Given the description of an element on the screen output the (x, y) to click on. 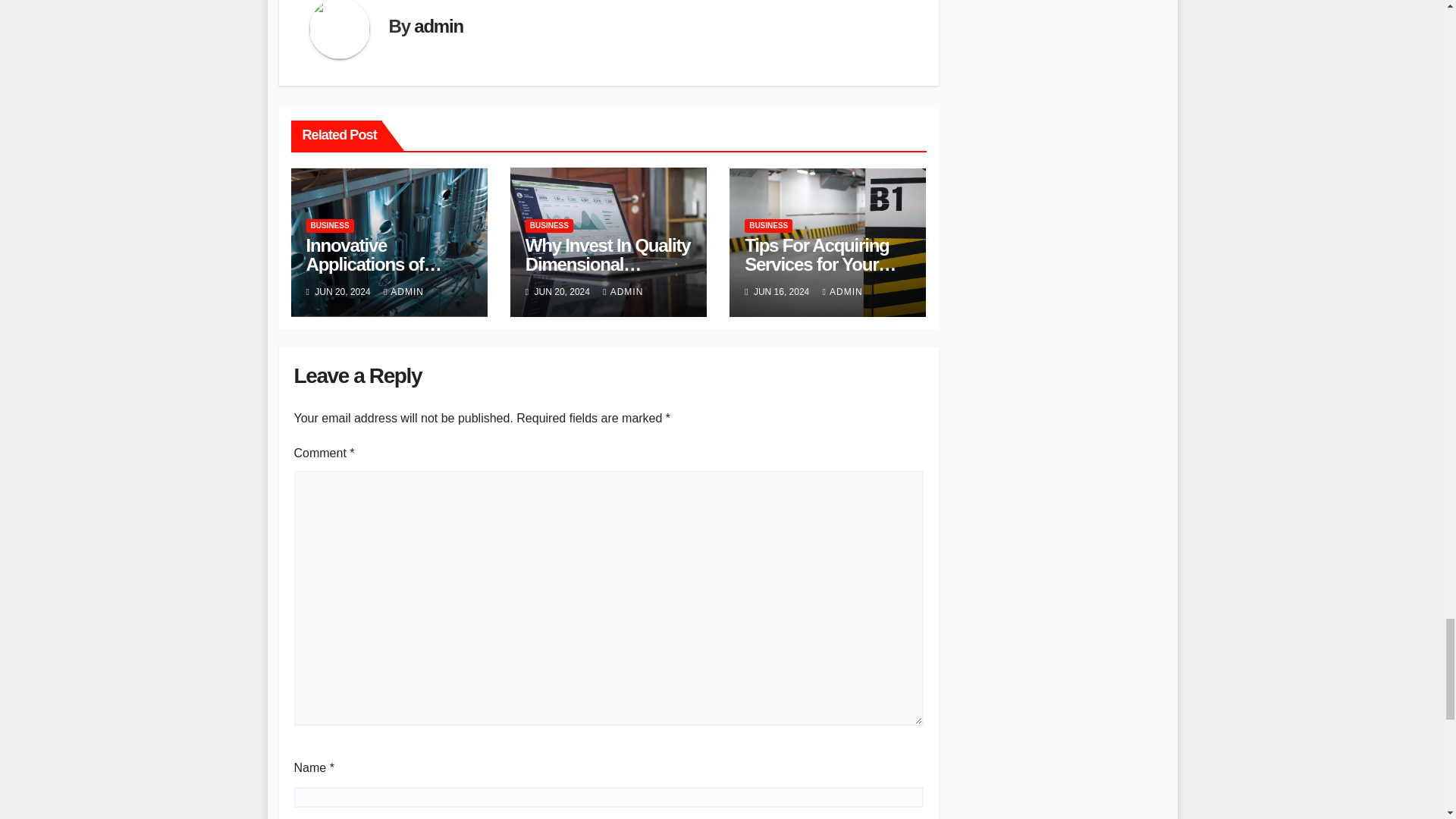
admin (438, 25)
